Given the description of an element on the screen output the (x, y) to click on. 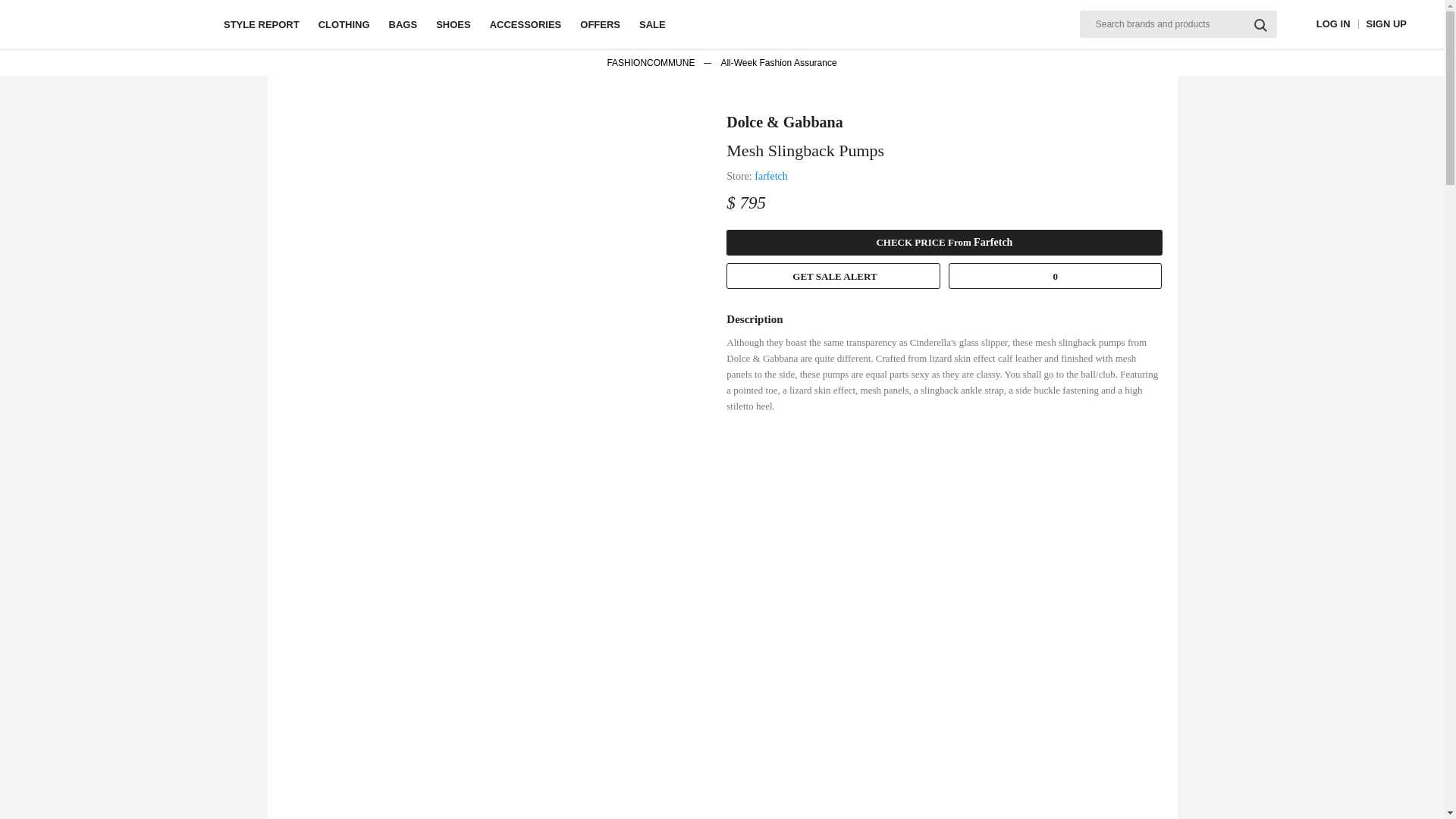
OFFERS (599, 24)
SHOES (452, 24)
BAGS (402, 24)
STYLE REPORT (261, 24)
CLOTHING (343, 24)
SALE (652, 24)
ACCESSORIES (525, 24)
